Given the description of an element on the screen output the (x, y) to click on. 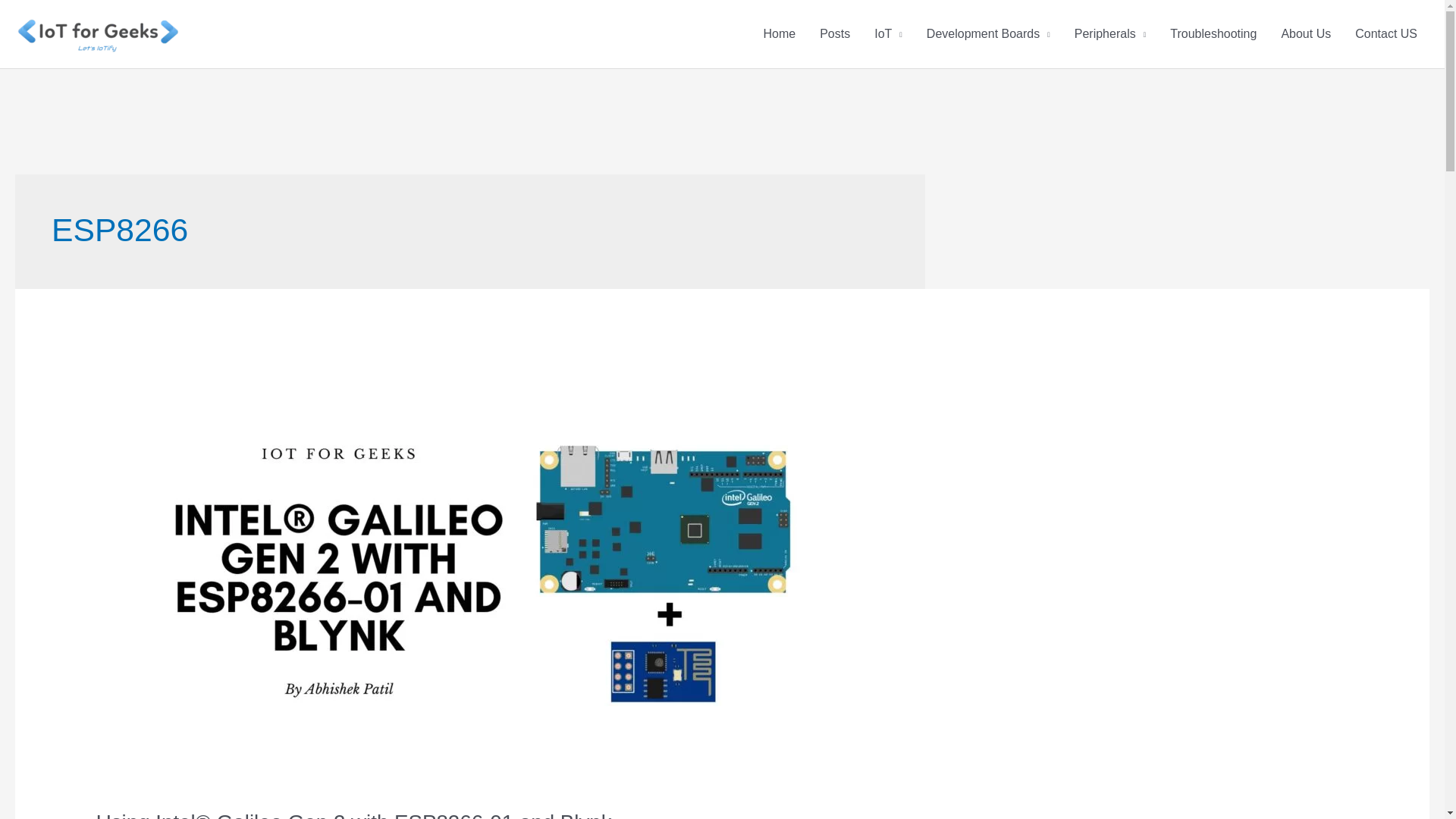
Development Boards (988, 33)
Troubleshooting (1212, 33)
About Us (1305, 33)
Peripherals (1109, 33)
Contact US (1385, 33)
